Given the description of an element on the screen output the (x, y) to click on. 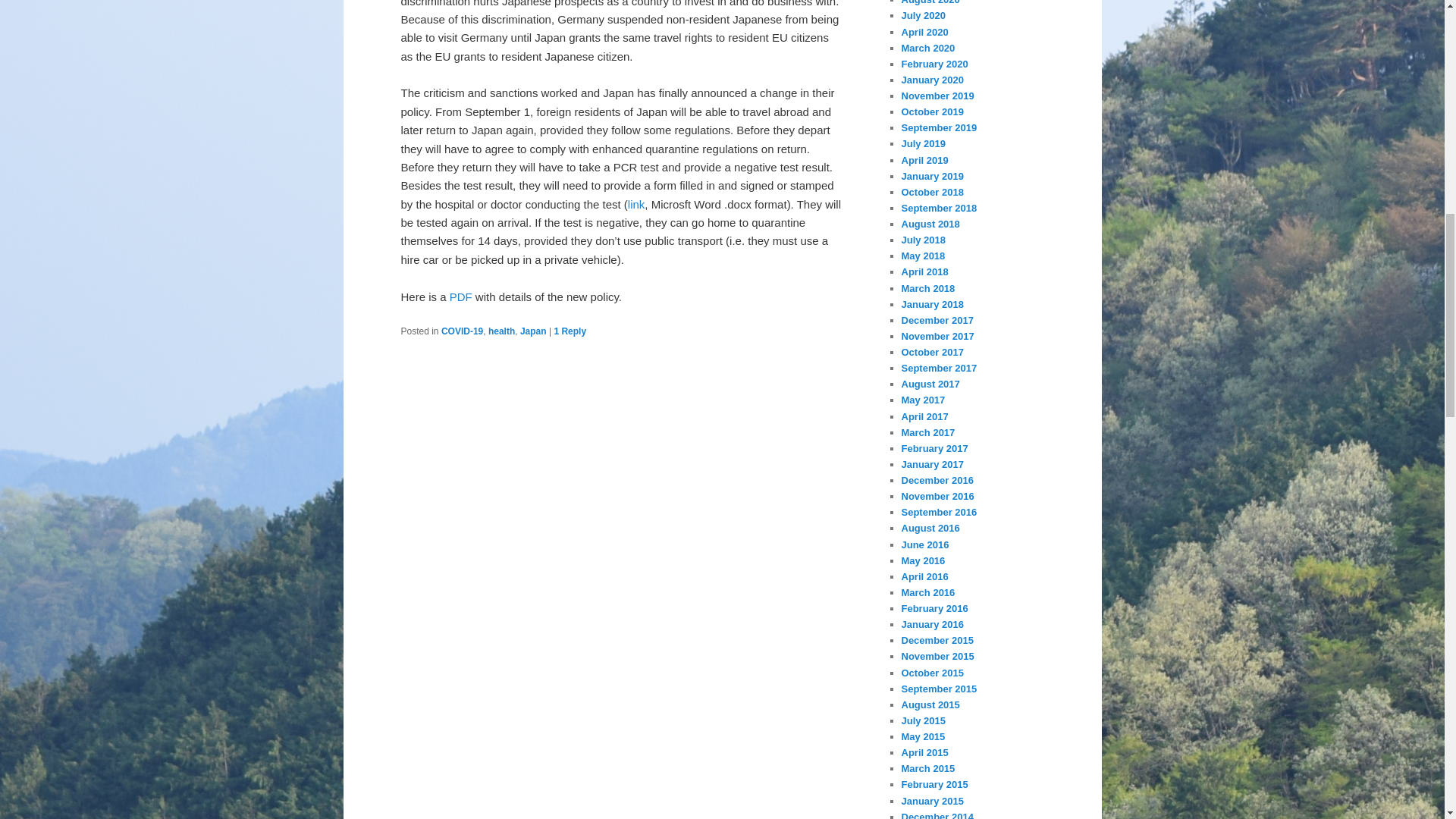
Japan (533, 330)
PDF (460, 296)
COVID-19 (462, 330)
link (636, 204)
health (501, 330)
1 Reply (569, 330)
